Given the description of an element on the screen output the (x, y) to click on. 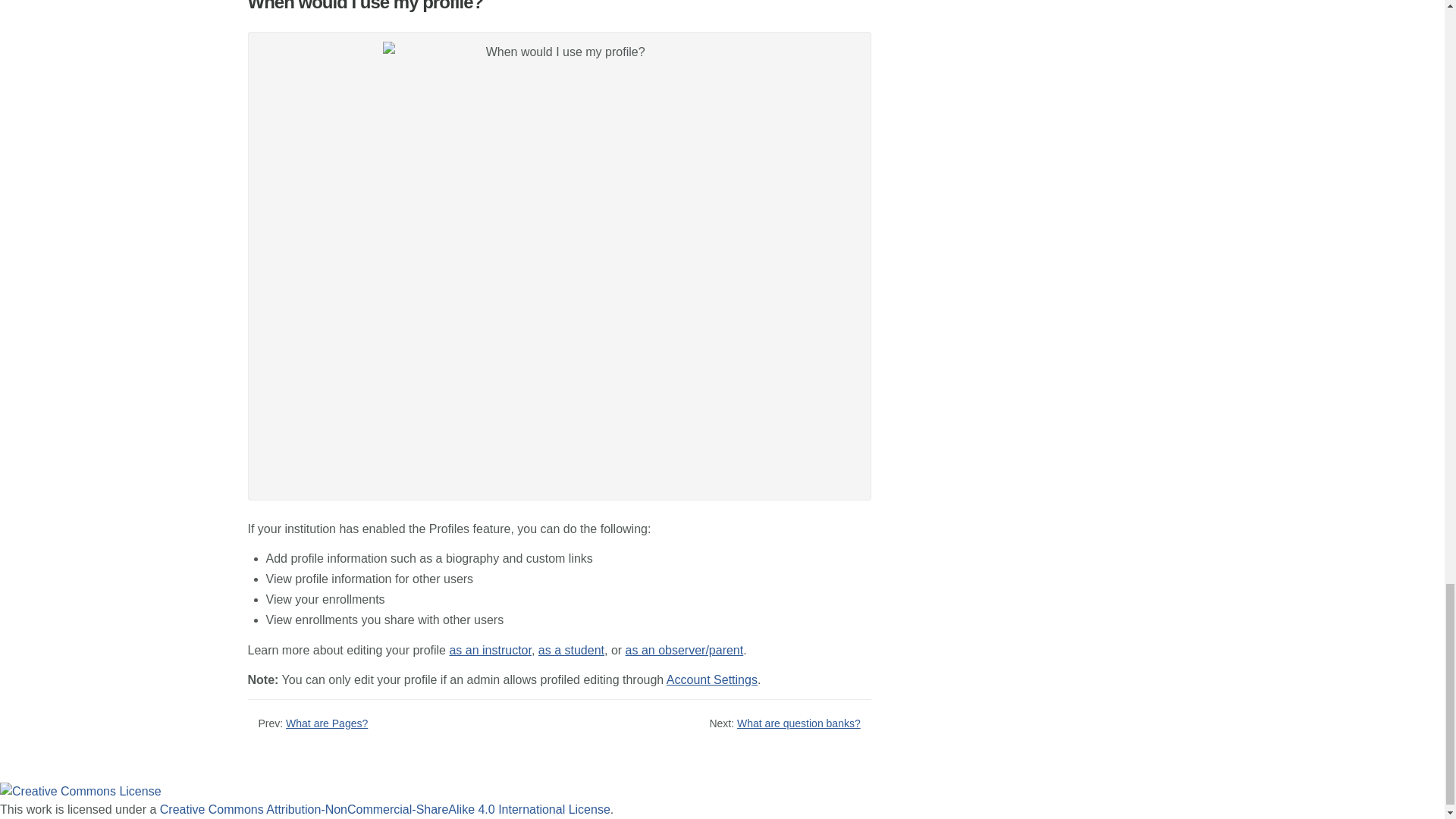
What are question banks? (798, 723)
as an instructor (489, 649)
as a student (571, 649)
Account Settings (711, 679)
What are Pages? (326, 723)
